Given the description of an element on the screen output the (x, y) to click on. 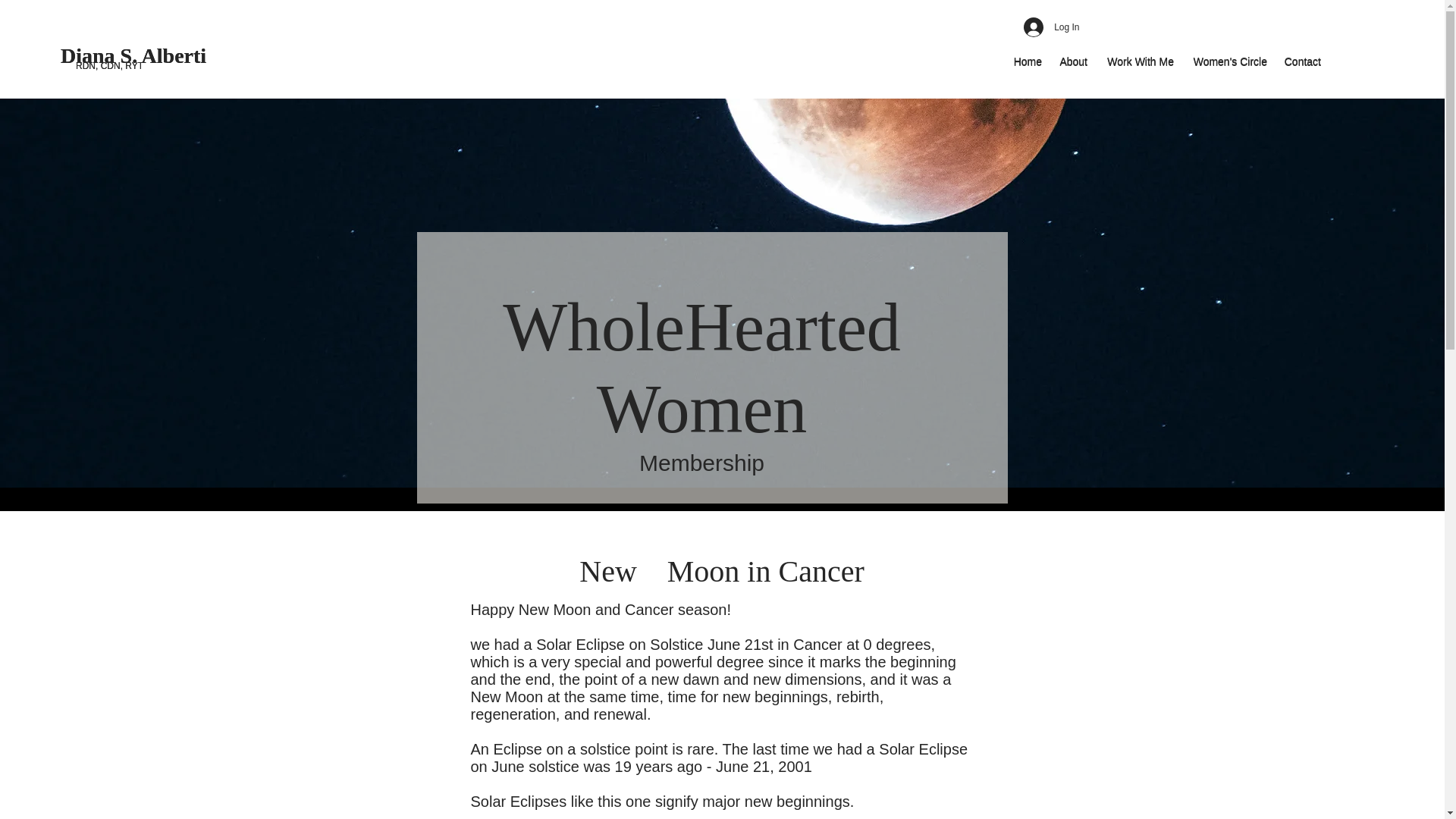
Home (1026, 61)
Work With Me (1137, 60)
Contact (1301, 60)
Women's Circle (1227, 60)
Home (1026, 60)
Work With Me (1137, 61)
About (1071, 61)
About (1071, 60)
Women's Circle (1227, 61)
Contact (1301, 61)
Log In (1051, 27)
